Given the description of an element on the screen output the (x, y) to click on. 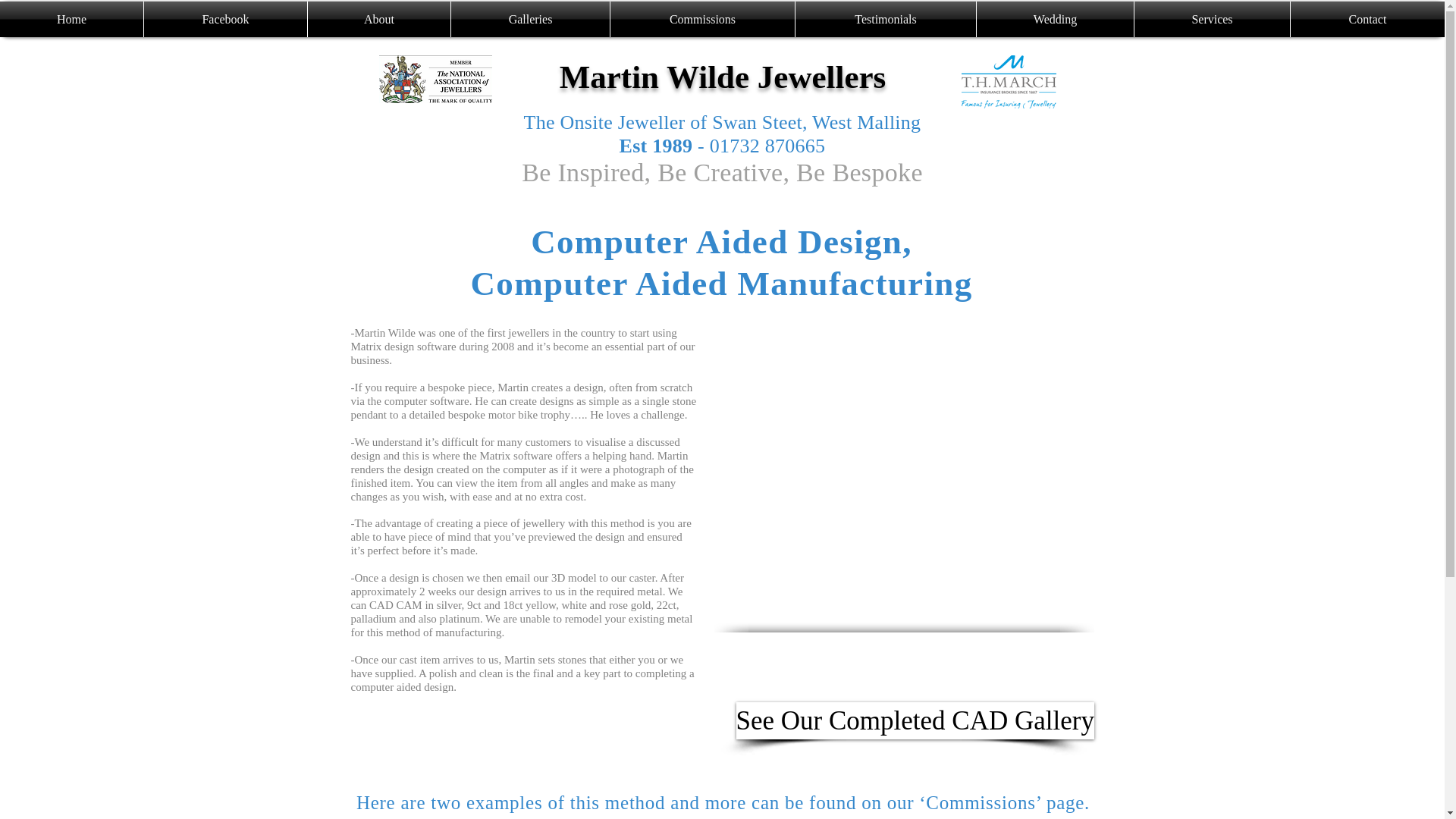
Martin Wilde Jewellers (722, 76)
Wedding (1055, 18)
Galleries (530, 18)
Testimonials (884, 18)
About (378, 18)
Services (1212, 18)
Commissions (702, 18)
Facebook (225, 18)
See Our Completed CAD Gallery (914, 720)
Home (71, 18)
